Given the description of an element on the screen output the (x, y) to click on. 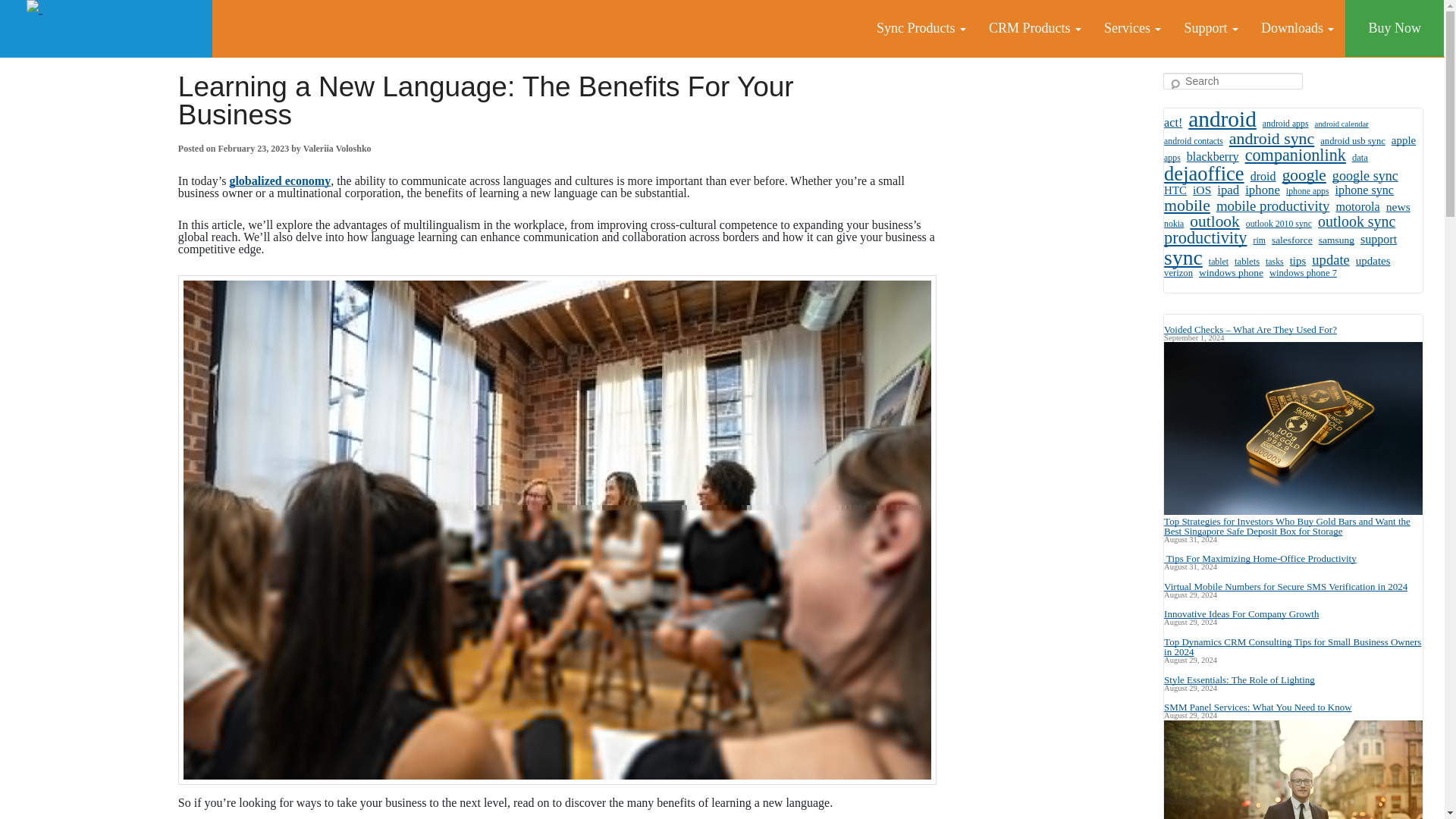
Sync Products (920, 28)
Downloads (1297, 28)
Services (1132, 28)
CRM Products (1034, 28)
CompanionLink Home (106, 28)
Support (1210, 28)
